Given the description of an element on the screen output the (x, y) to click on. 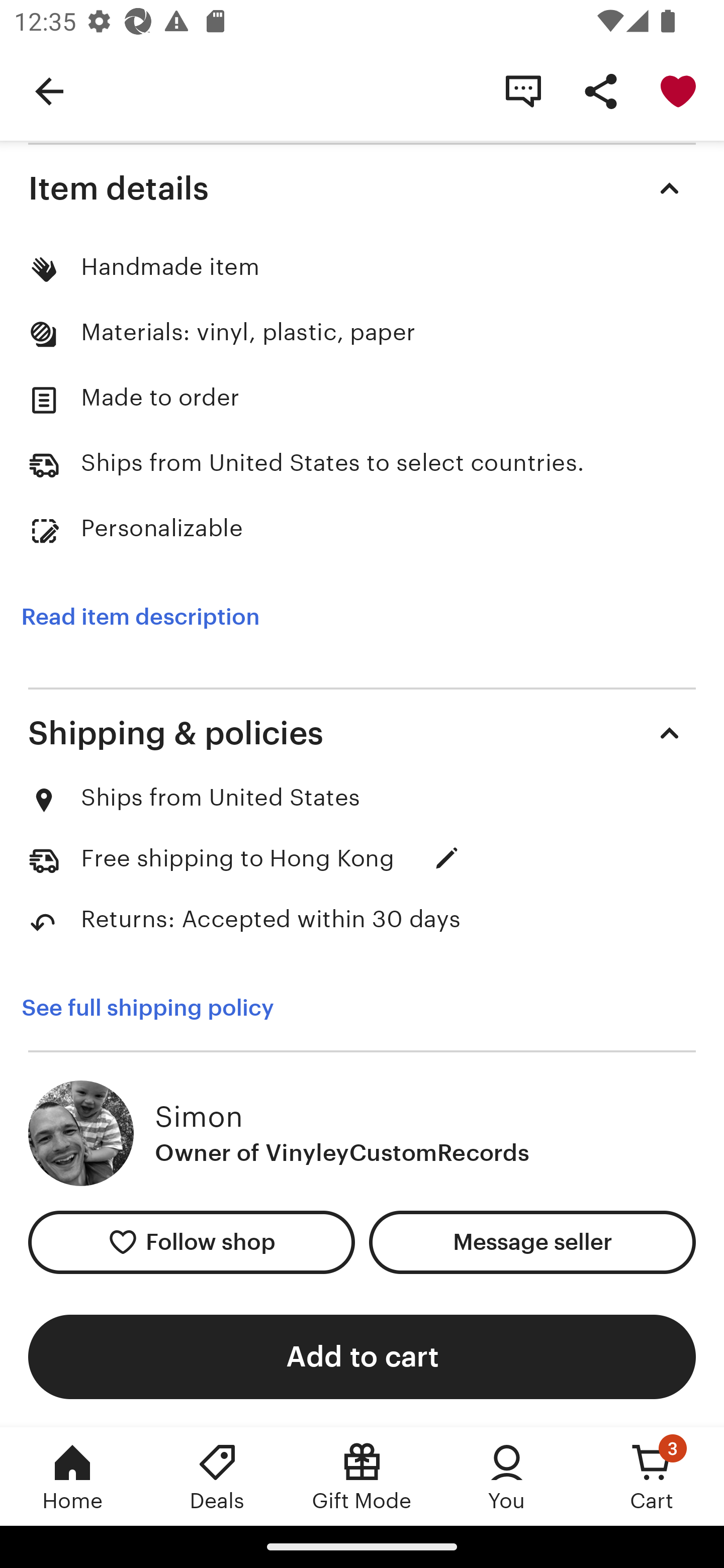
Navigate up (49, 90)
Contact shop (523, 90)
Share (600, 90)
Item details (362, 187)
Read item description (140, 617)
Shipping & policies (362, 732)
Update (446, 858)
See full shipping policy (161, 1007)
Follow shop Follow VinyleyCustomRecords (191, 1241)
Message seller (532, 1241)
Add to cart (361, 1355)
Deals (216, 1475)
Gift Mode (361, 1475)
You (506, 1475)
Cart, 3 new notifications Cart (651, 1475)
